Given the description of an element on the screen output the (x, y) to click on. 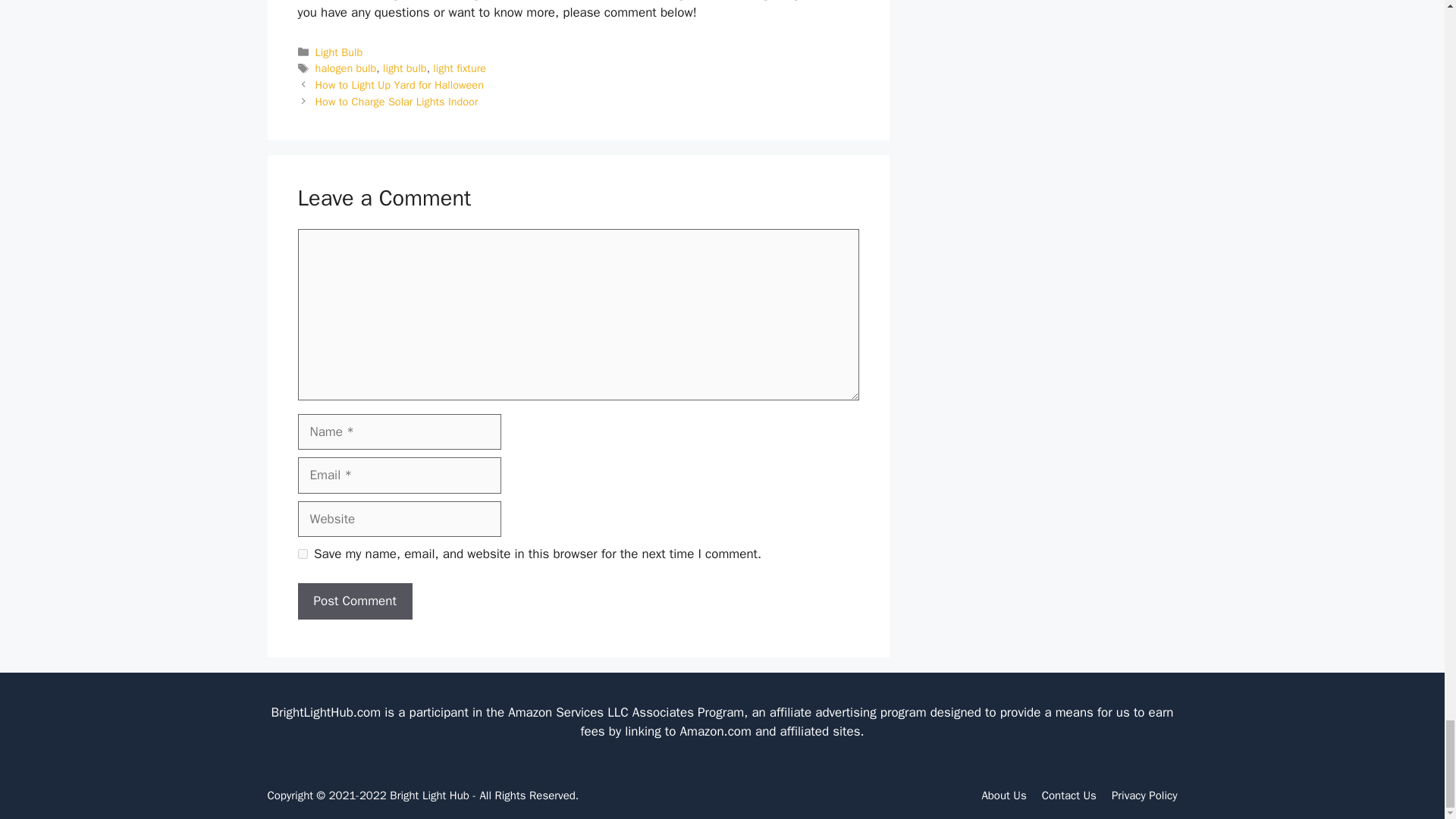
Privacy Policy (1144, 795)
Post Comment (354, 601)
Post Comment (354, 601)
yes (302, 553)
light bulb (404, 68)
How to Charge Solar Lights Indoor (397, 101)
halogen bulb (346, 68)
Light Bulb (338, 51)
How to Light Up Yard for Halloween (399, 84)
About Us (1003, 795)
